Given the description of an element on the screen output the (x, y) to click on. 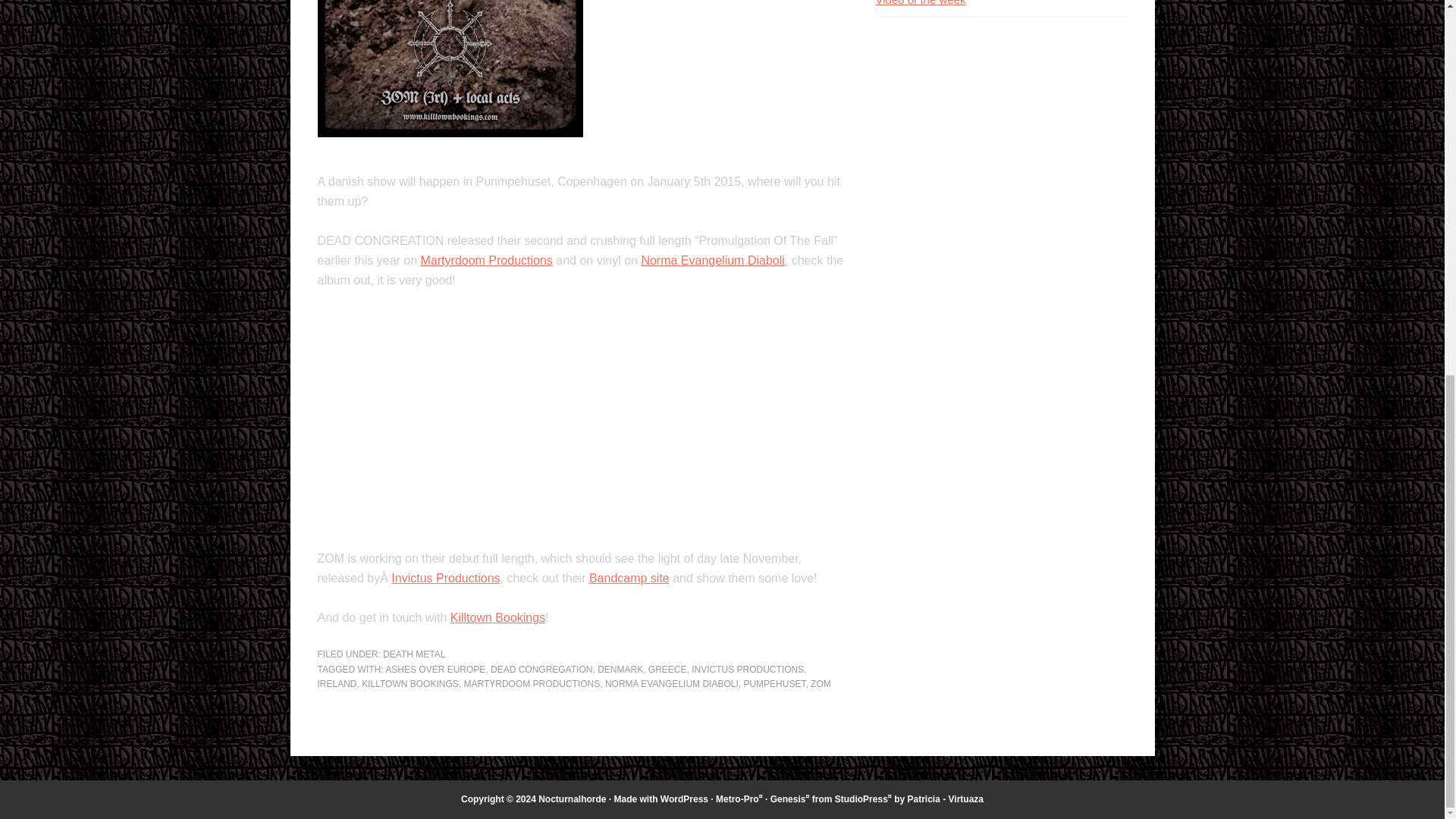
PUMPEHUSET (773, 683)
Metro-Pro (737, 798)
Martyrdoom Productions (486, 259)
DENMARK (619, 669)
KILLTOWN BOOKINGS (409, 683)
IRELAND (336, 683)
Killtown Bookings (496, 617)
Invictus Productions (445, 577)
GREECE (667, 669)
StudioPress Themes for WordPress (861, 798)
